Given the description of an element on the screen output the (x, y) to click on. 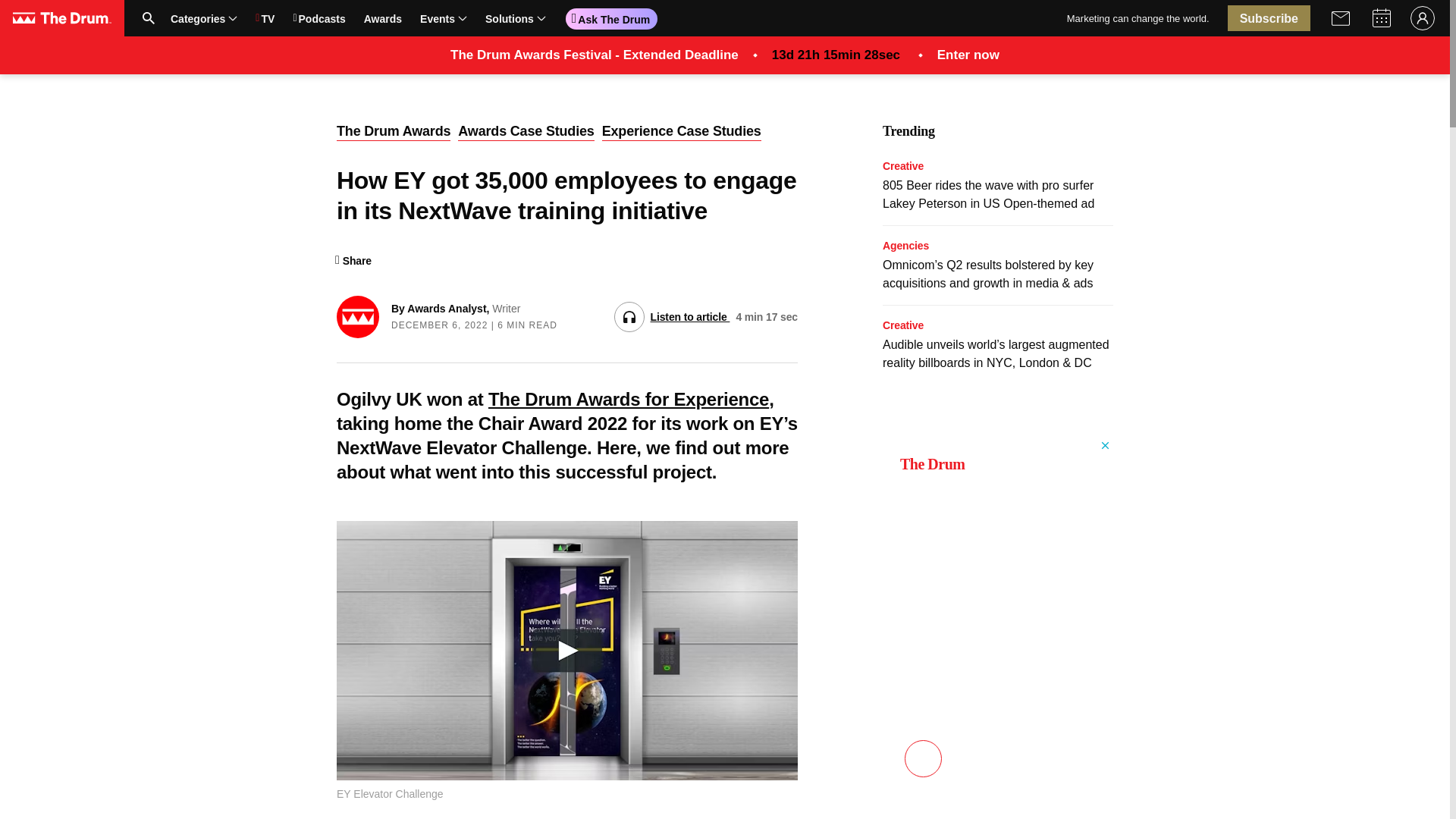
Categories (203, 17)
EY (409, 17)
